Given the description of an element on the screen output the (x, y) to click on. 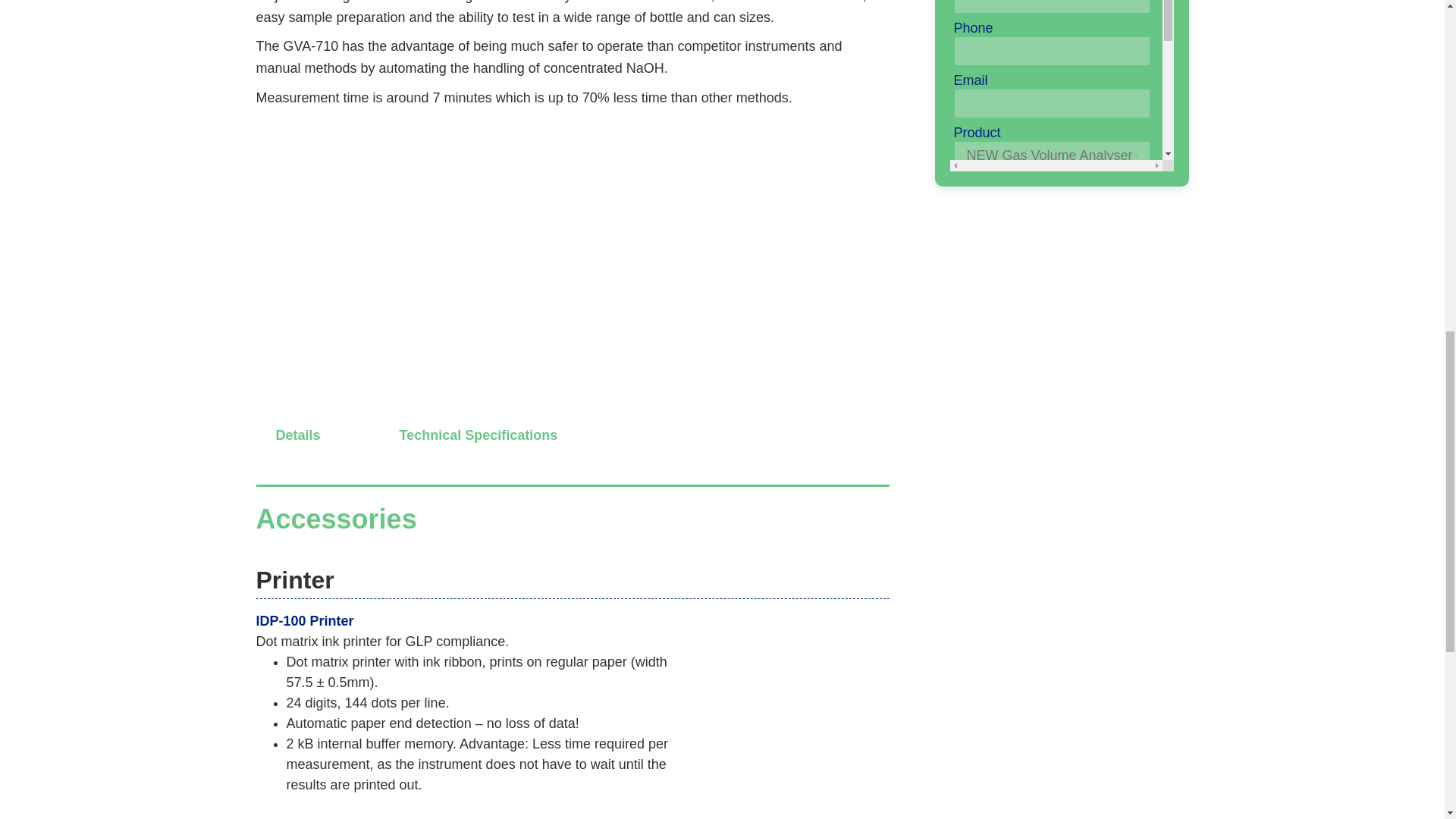
Contact Us (1051, 308)
